Given the description of an element on the screen output the (x, y) to click on. 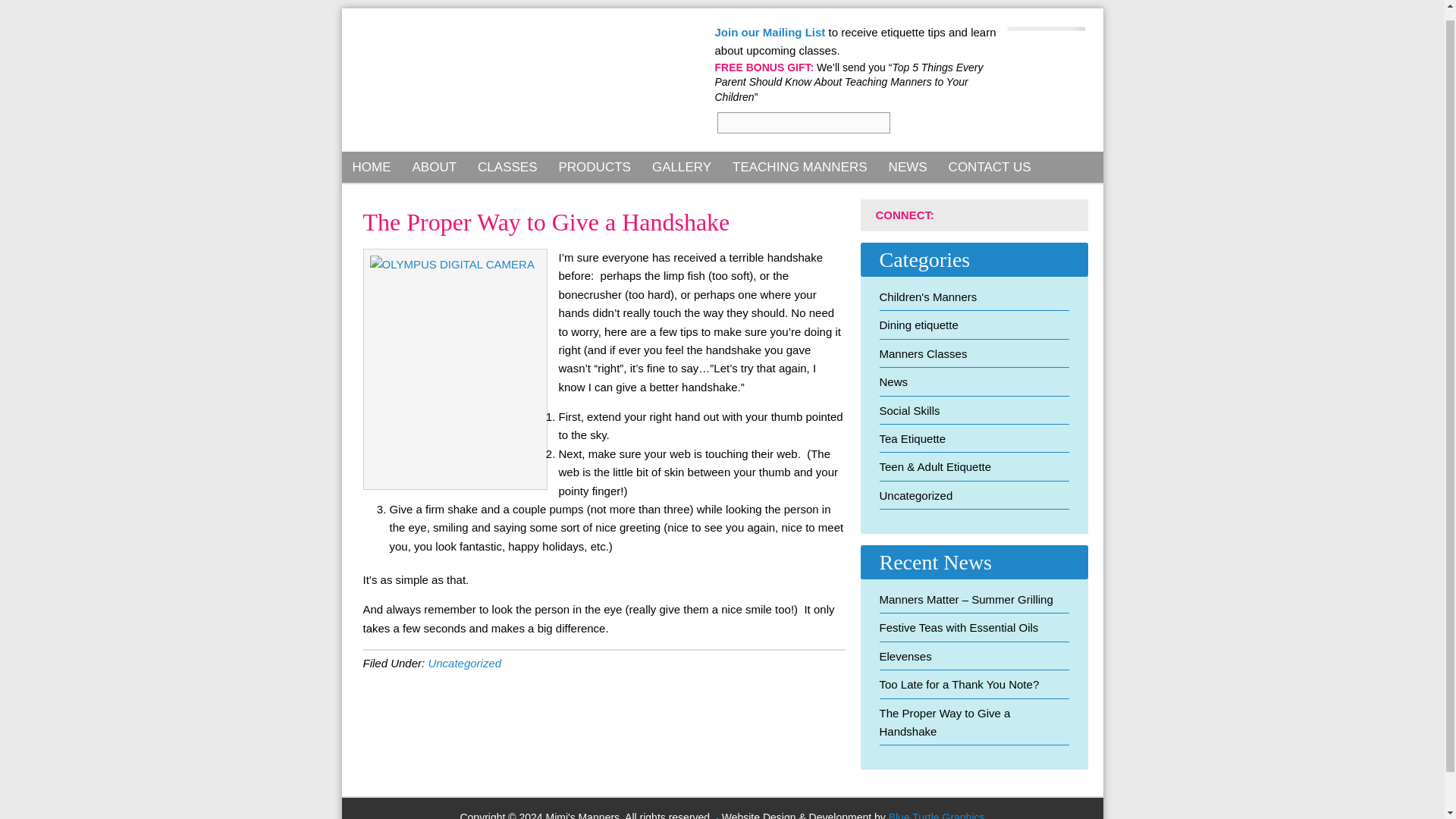
Festive Teas with Essential Oils (959, 626)
Mimi's Manners (490, 81)
Uncategorized (916, 495)
Facebook (959, 214)
Uncategorized (464, 662)
ABOUT (434, 166)
Twitter (1014, 214)
Tea Etiquette (912, 438)
TEACHING MANNERS (799, 166)
Products (593, 166)
